Given the description of an element on the screen output the (x, y) to click on. 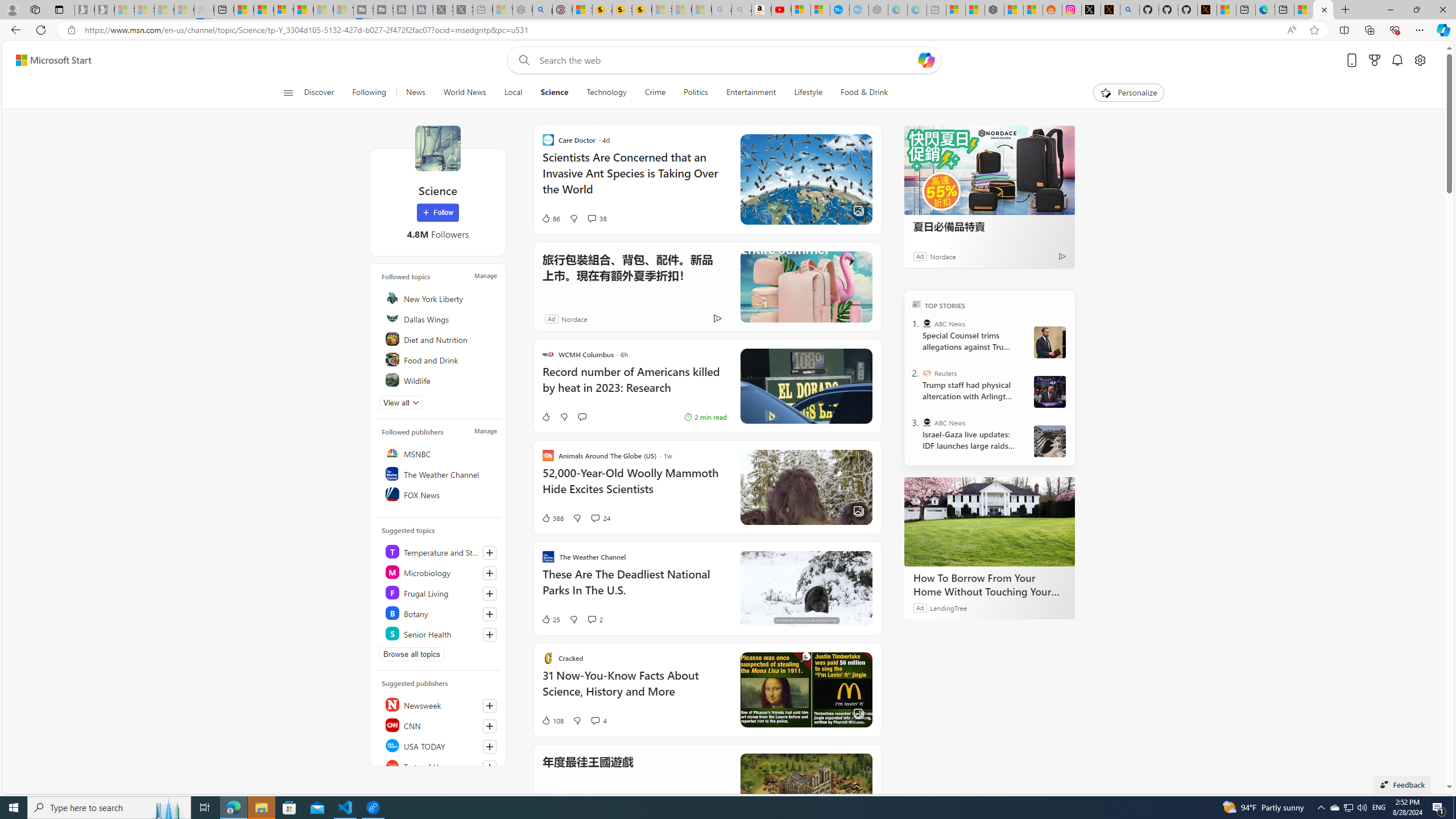
Nordace - Duffels (994, 9)
Nordace - Nordace has arrived Hong Kong - Sleeping (877, 9)
31 Now-You-Know Facts About Science, History and More (633, 689)
View comments 38 Comment (596, 218)
Wildlife (439, 380)
View comments 2 Comment (594, 619)
Lifestyle (807, 92)
Log in to X / X (1090, 9)
